Given the description of an element on the screen output the (x, y) to click on. 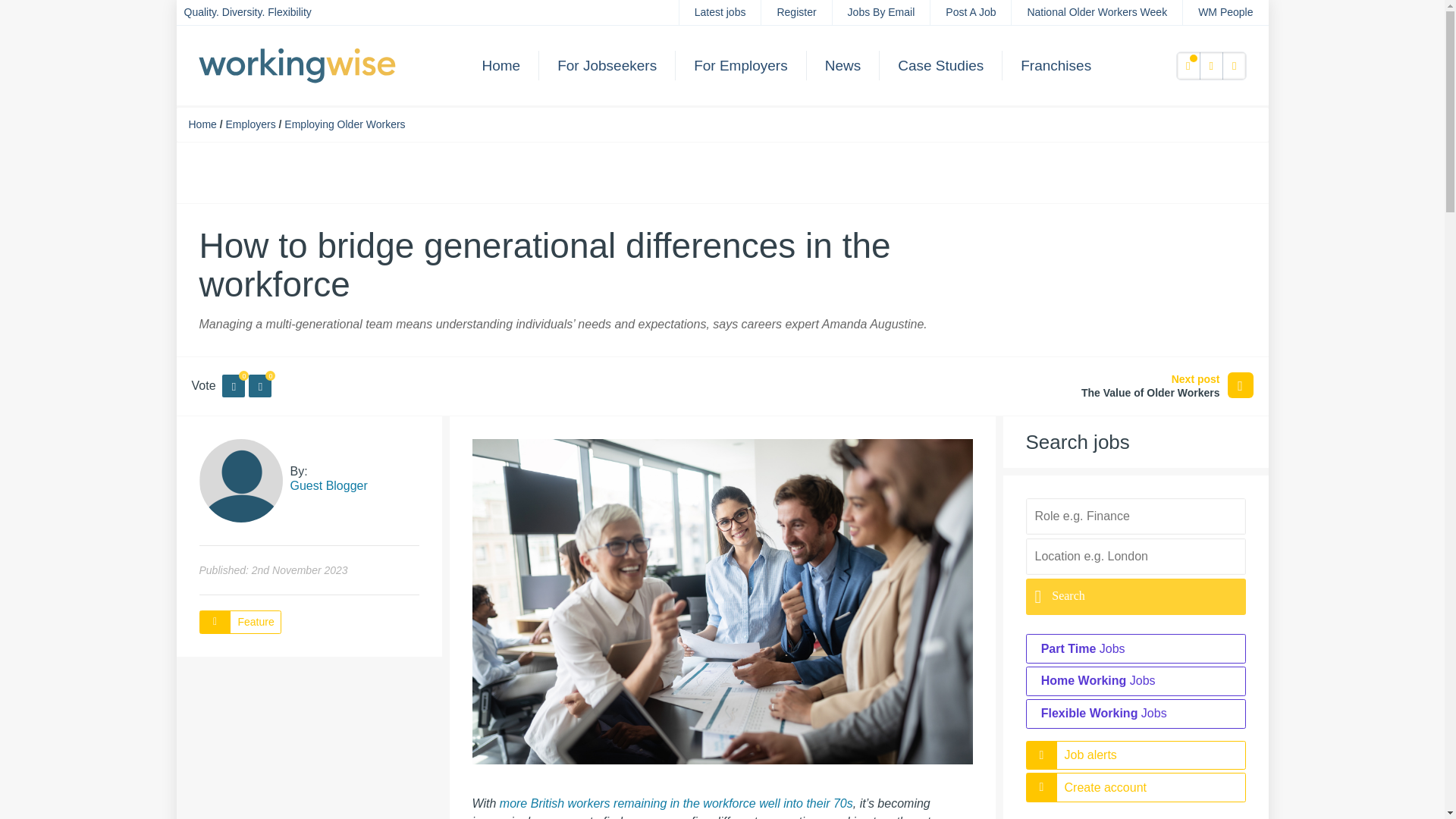
Register (796, 12)
Case Studies (940, 65)
workingwise.co.uk (297, 64)
Jobs By Email (881, 12)
News (842, 65)
Latest jobs (720, 12)
Home (201, 123)
Home (501, 65)
Franchises (1056, 65)
For Employers (740, 65)
